Given the description of an element on the screen output the (x, y) to click on. 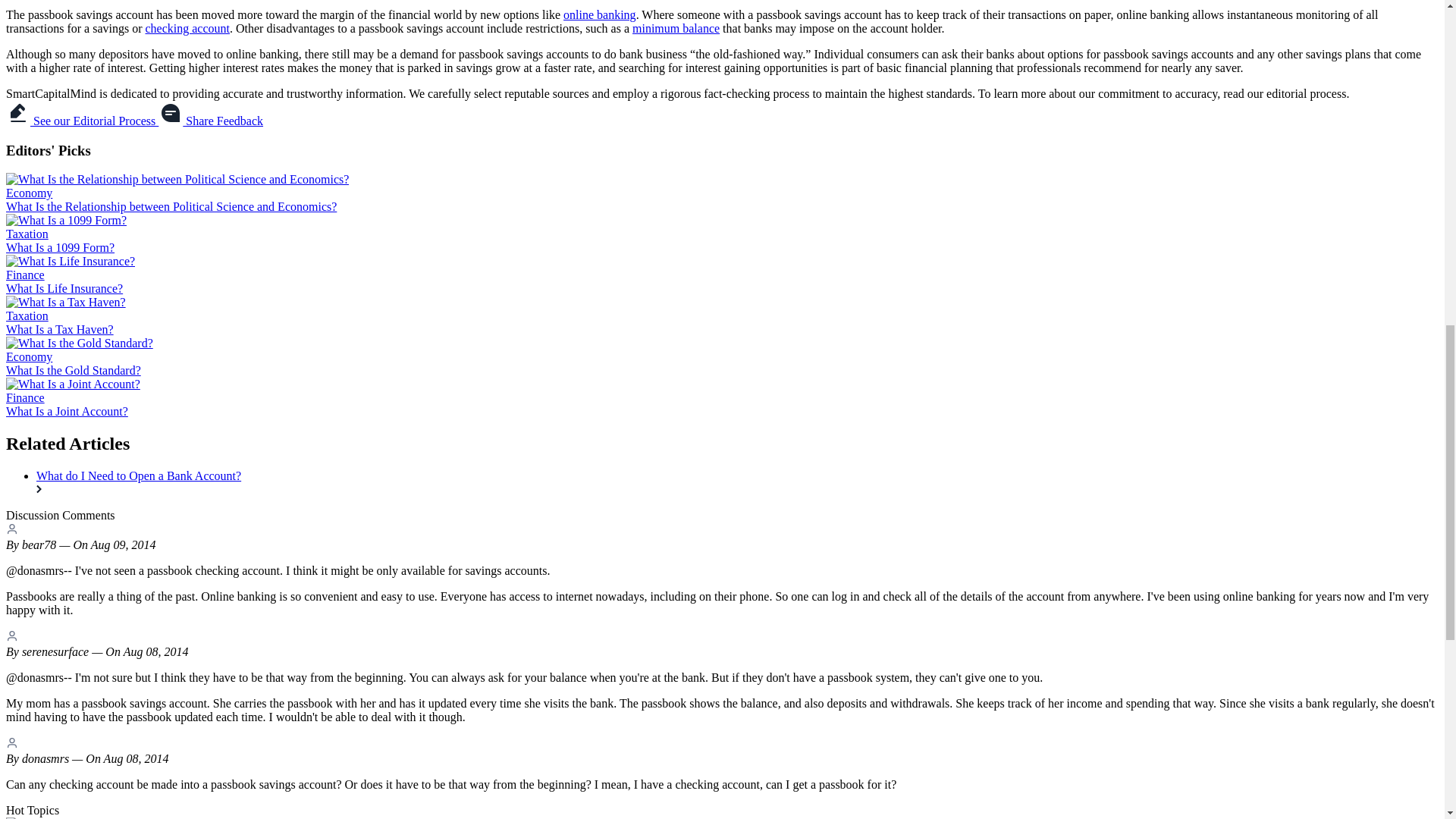
minimum balance (675, 28)
online banking (599, 14)
checking account (187, 28)
